Given the description of an element on the screen output the (x, y) to click on. 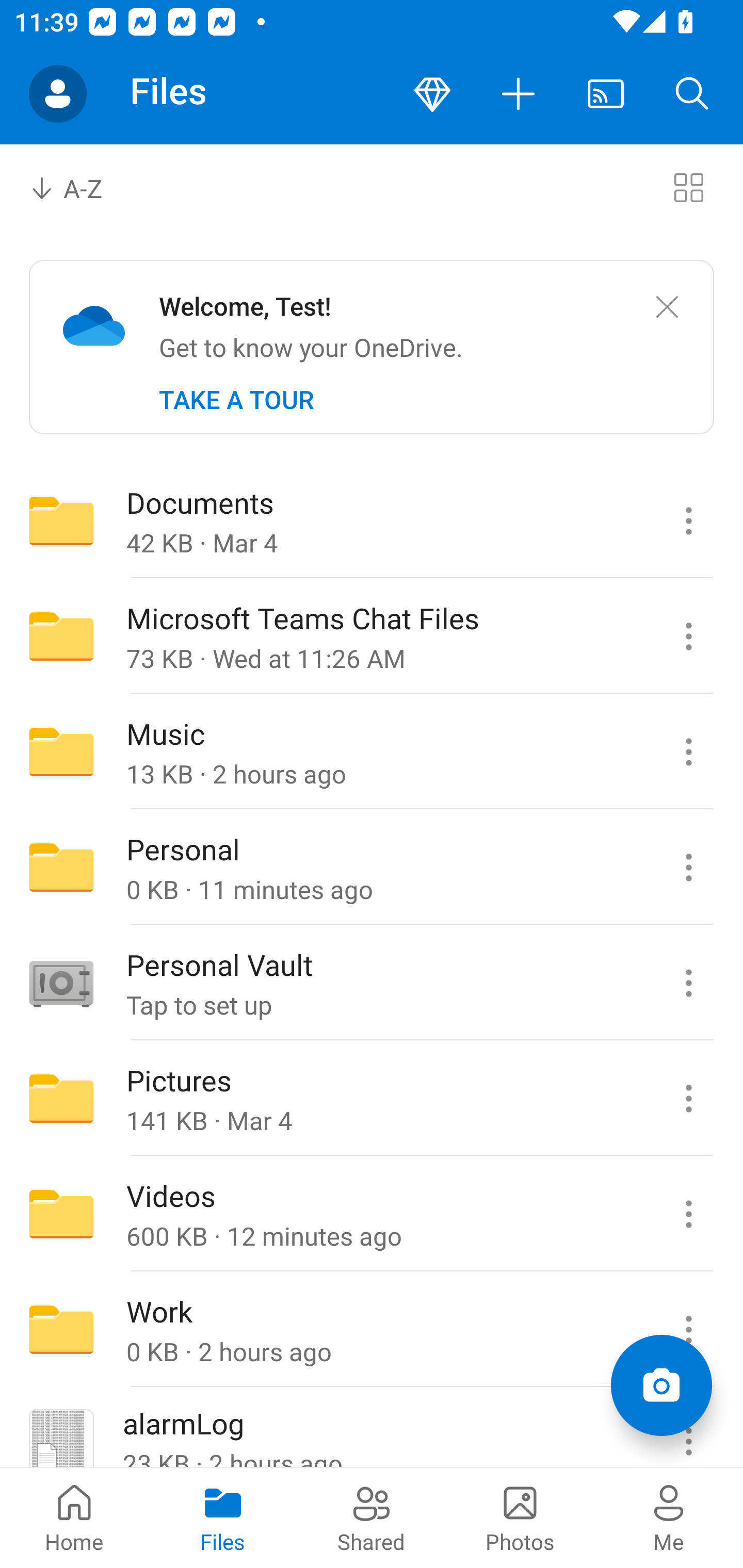
Account switcher (57, 93)
Cast. Disconnected (605, 93)
Premium button (432, 93)
More actions button (518, 93)
Search button (692, 93)
A-Z Sort by combo box, sort by name, A to Z (80, 187)
Switch to tiles view (688, 187)
Close (667, 307)
TAKE A TOUR (236, 399)
Folder Documents 42 KB · Mar 4 Documents commands (371, 520)
Documents commands (688, 520)
Microsoft Teams Chat Files commands (688, 636)
Folder Music 13 KB · 2 hours ago Music commands (371, 751)
Music commands (688, 751)
Personal commands (688, 867)
Personal Vault commands (688, 983)
Folder Pictures 141 KB · Mar 4 Pictures commands (371, 1099)
Pictures commands (688, 1099)
Videos commands (688, 1214)
Folder Work 0 KB · 2 hours ago Work commands (371, 1329)
Work commands (688, 1329)
Add items Scan (660, 1385)
alarmLog commands (688, 1427)
Home pivot Home (74, 1517)
Shared pivot Shared (371, 1517)
Photos pivot Photos (519, 1517)
Me pivot Me (668, 1517)
